Given the description of an element on the screen output the (x, y) to click on. 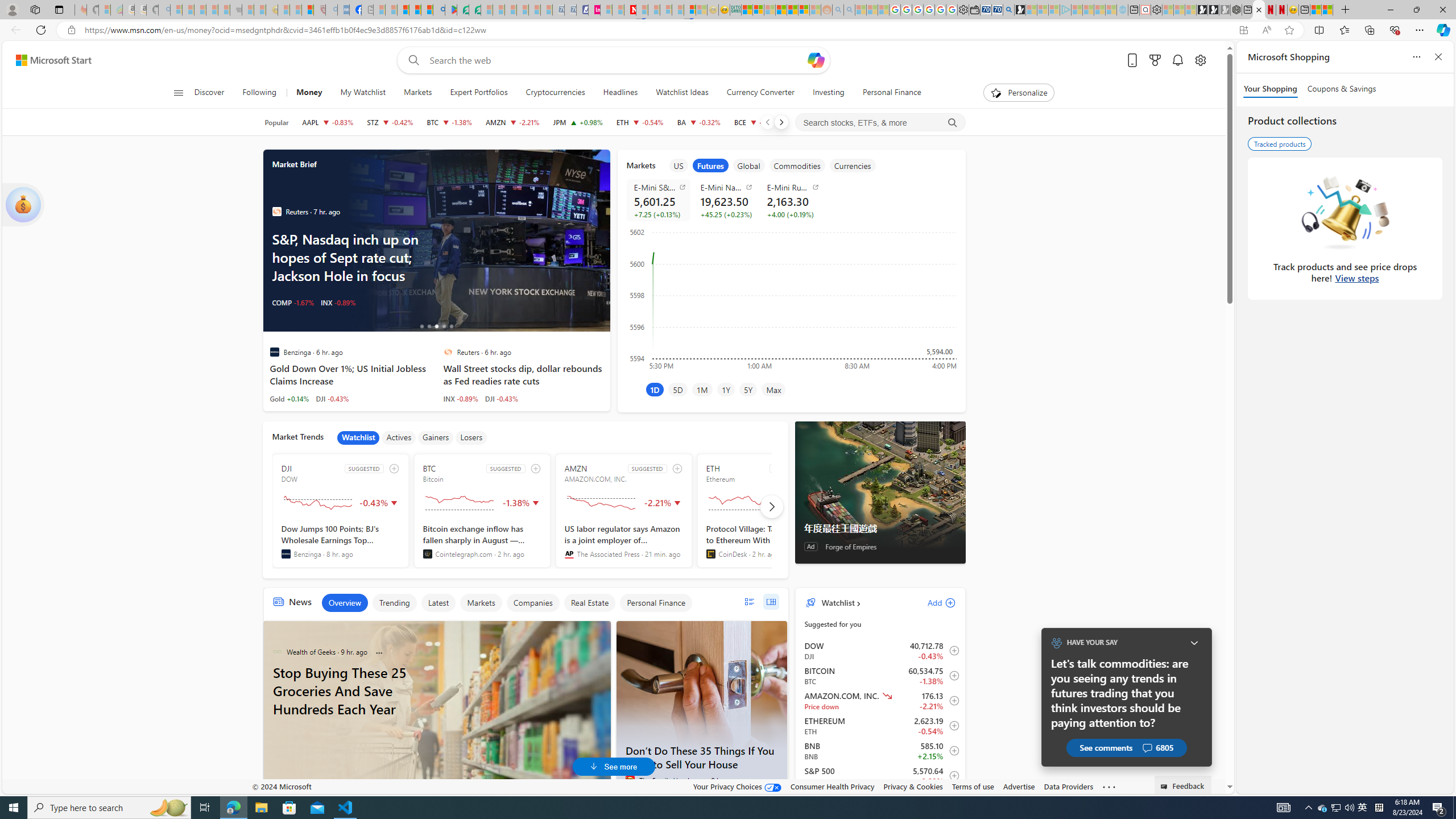
1D (654, 389)
Gold +0.14% (288, 397)
BNB BNB increase 585.10 +12.60 +2.15% item4 (880, 750)
5D (677, 389)
Kinda Frugal - MSN (792, 9)
AMZN AMAZON.COM, INC. decrease 176.13 -3.98 -2.21% (512, 122)
BTC Bitcoin decrease 60,534.75 -837.20 -1.38% item1 (880, 675)
Companies (532, 602)
Watchlist (837, 602)
1Y (725, 389)
Watchlist Ideas (681, 92)
